Given the description of an element on the screen output the (x, y) to click on. 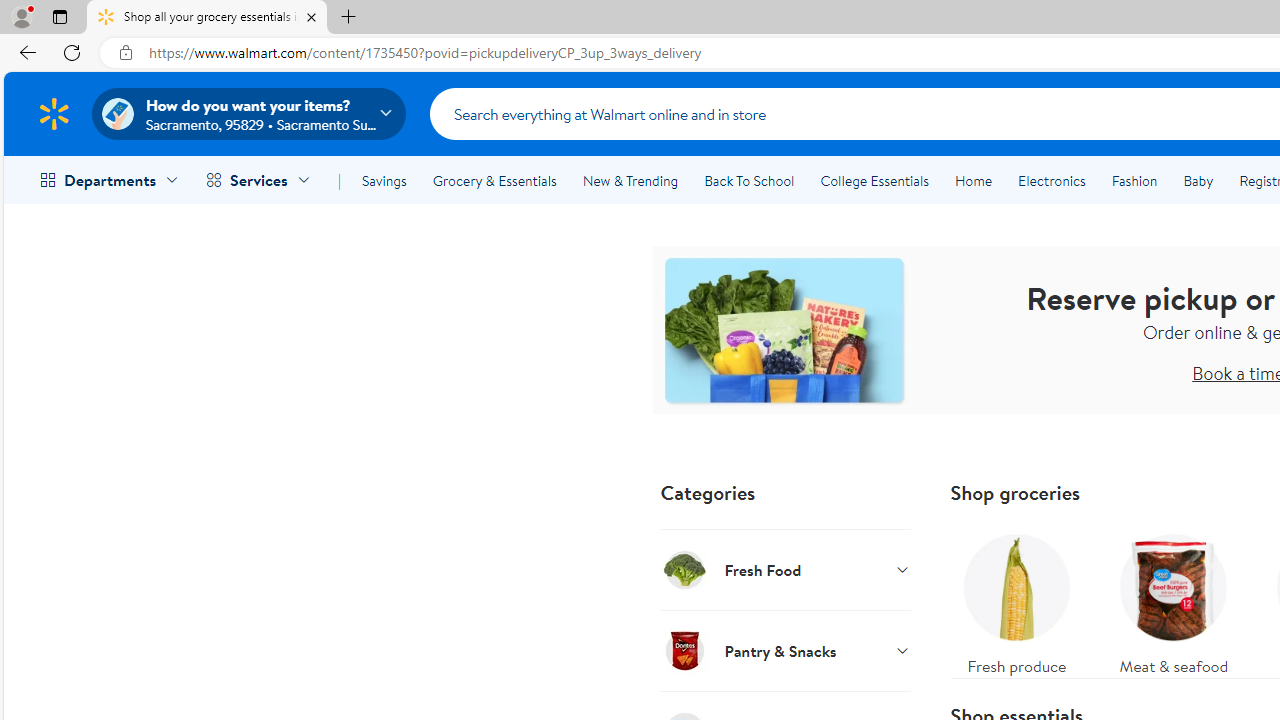
Grocery & Essentials (493, 180)
Fashion (1134, 180)
New & Trending (630, 180)
Fashion (1134, 180)
Fresh Food (785, 569)
College Essentials (874, 180)
